Given the description of an element on the screen output the (x, y) to click on. 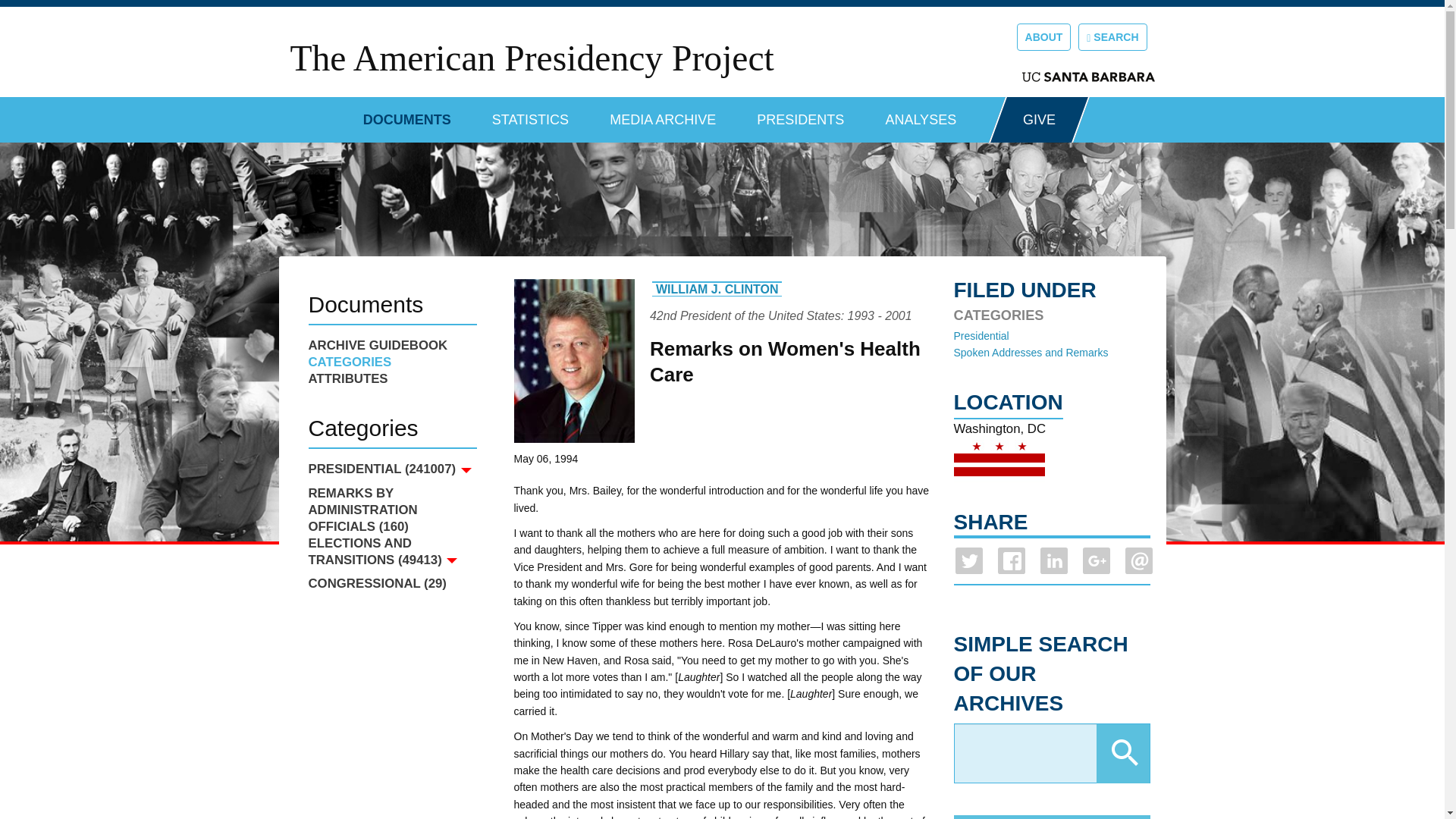
ANALYSES (920, 113)
MEDIA ARCHIVE (663, 113)
PRESIDENTS (800, 113)
DOCUMENTS (406, 113)
ARCHIVE GUIDEBOOK (391, 345)
ABOUT (1043, 36)
CATEGORIES (391, 362)
GIVE (1038, 119)
The American Presidency Project (531, 57)
ATTRIBUTES (391, 379)
 SEARCH (1112, 36)
STATISTICS (530, 113)
